Given the description of an element on the screen output the (x, y) to click on. 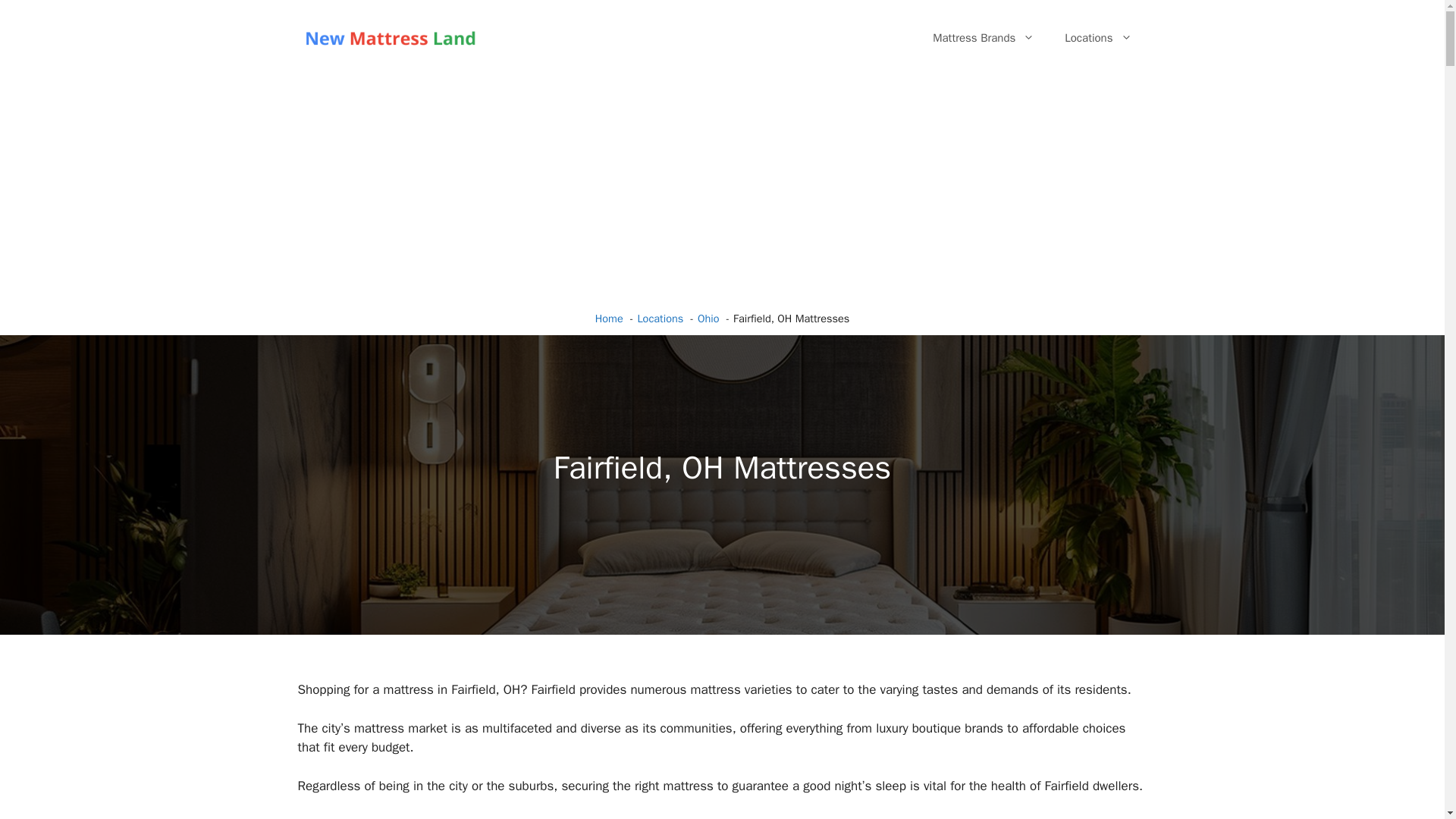
Mattress Brands (983, 37)
Locations (1098, 37)
